Given the description of an element on the screen output the (x, y) to click on. 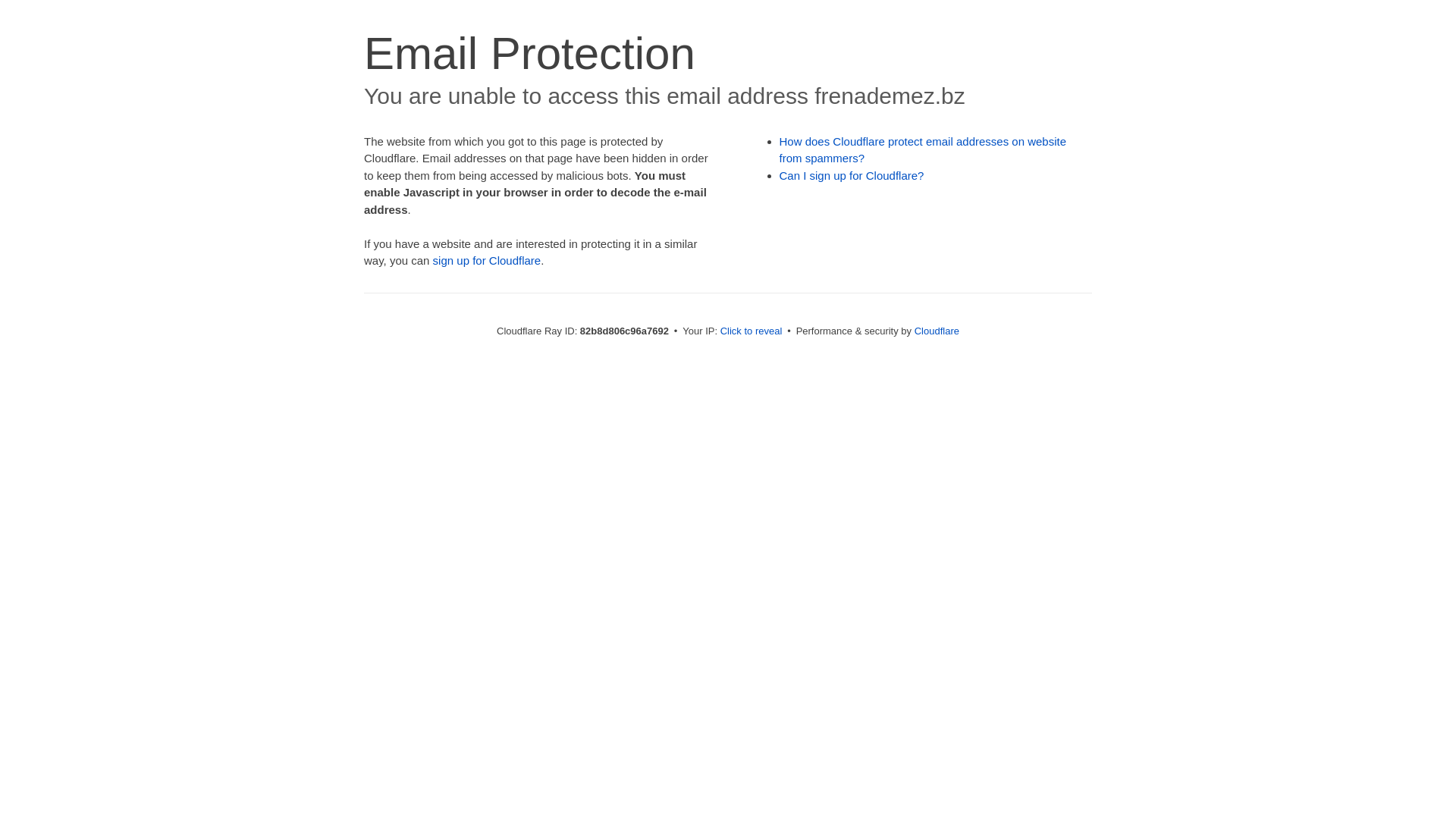
sign up for Cloudflare Element type: text (487, 260)
Click to reveal Element type: text (751, 330)
Can I sign up for Cloudflare? Element type: text (851, 175)
Cloudflare Element type: text (936, 330)
